Given the description of an element on the screen output the (x, y) to click on. 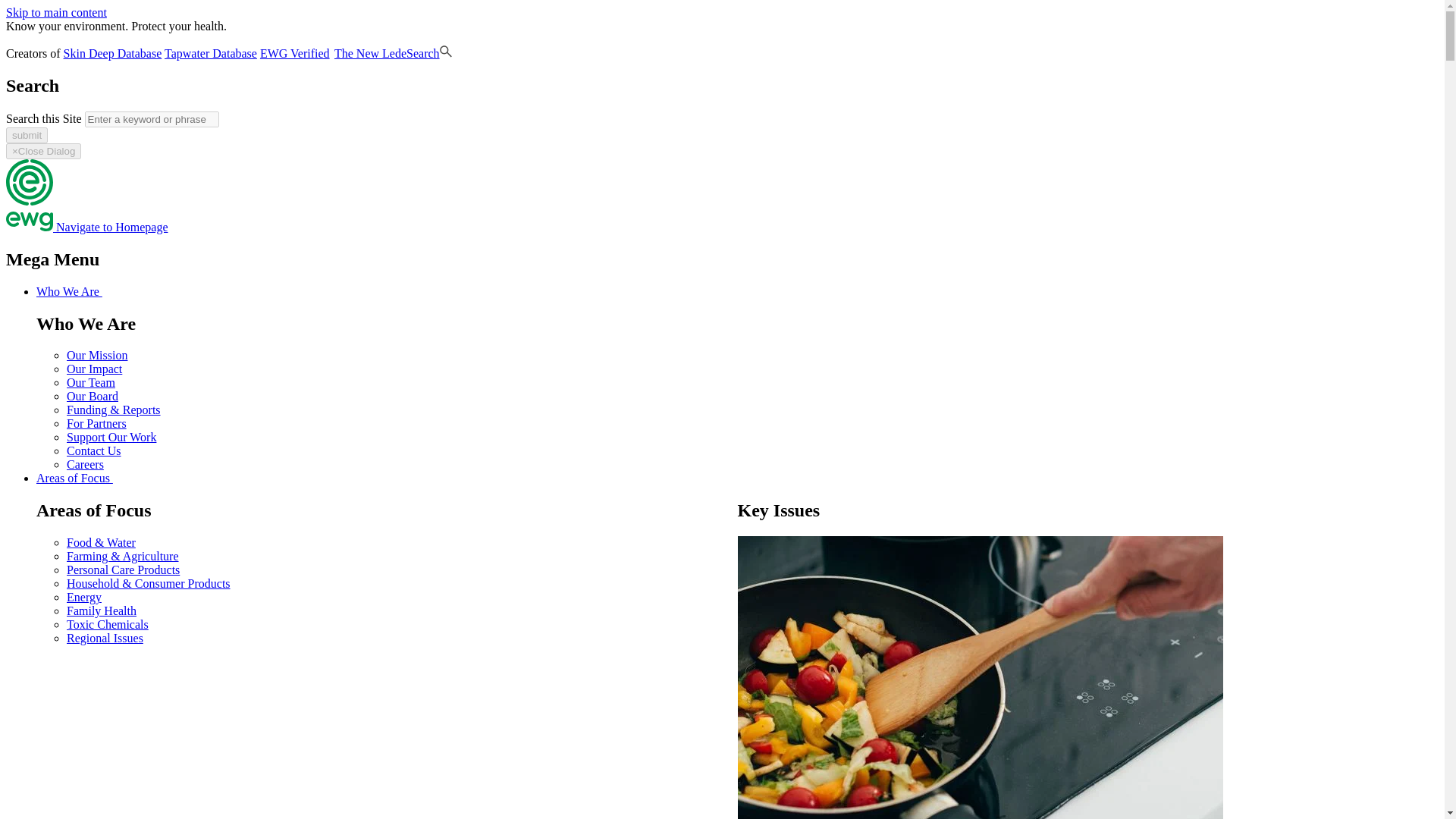
Careers (84, 463)
Family Health (101, 610)
Navigate to Homepage (86, 226)
Our Mission (97, 354)
Tapwater Database (210, 52)
Our Board (91, 395)
Energy (83, 596)
Areas of Focus (78, 477)
Skin Deep Database (112, 52)
Regional Issues (104, 637)
